Given the description of an element on the screen output the (x, y) to click on. 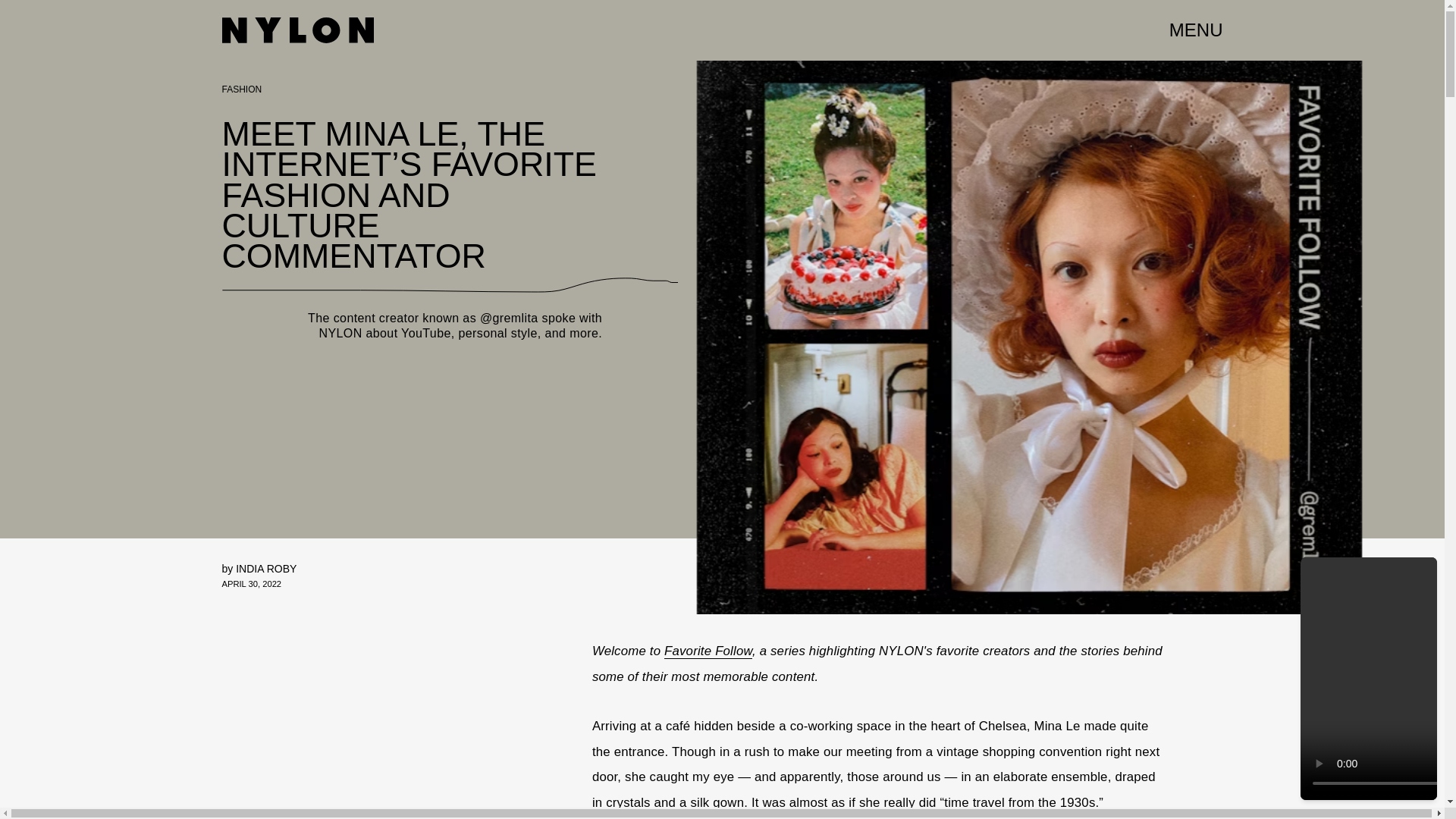
INDIA ROBY (266, 568)
Nylon (296, 30)
Favorite Follow (707, 651)
